Given the description of an element on the screen output the (x, y) to click on. 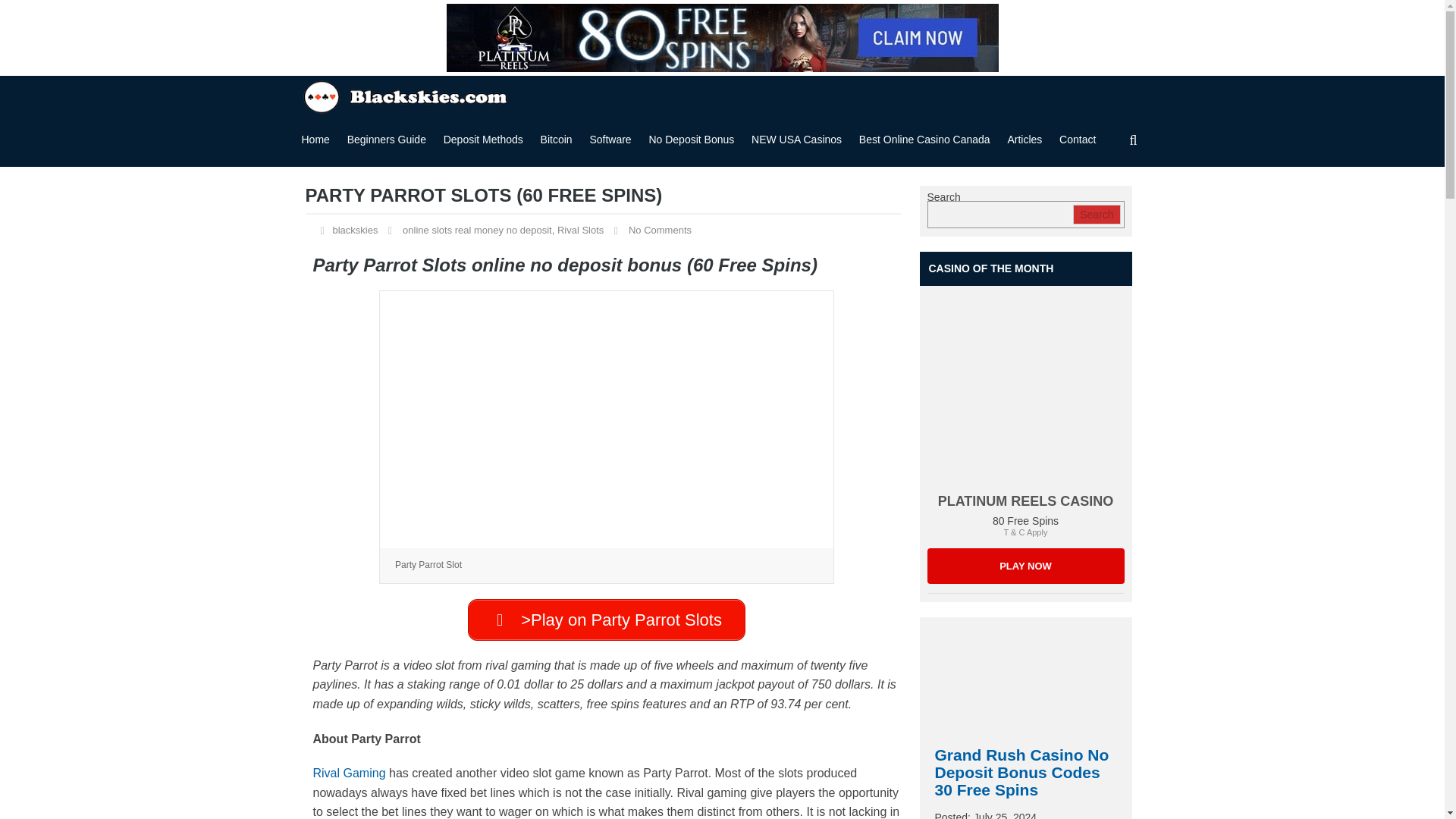
Online Casino No Deposit Bonus Codes Usa 2024 (407, 94)
Posts by blackskies (354, 229)
Beginners Guide (386, 139)
Home (315, 139)
Deposit Methods (483, 139)
Party Parrot (606, 419)
No Deposit Bonus (721, 38)
